Given the description of an element on the screen output the (x, y) to click on. 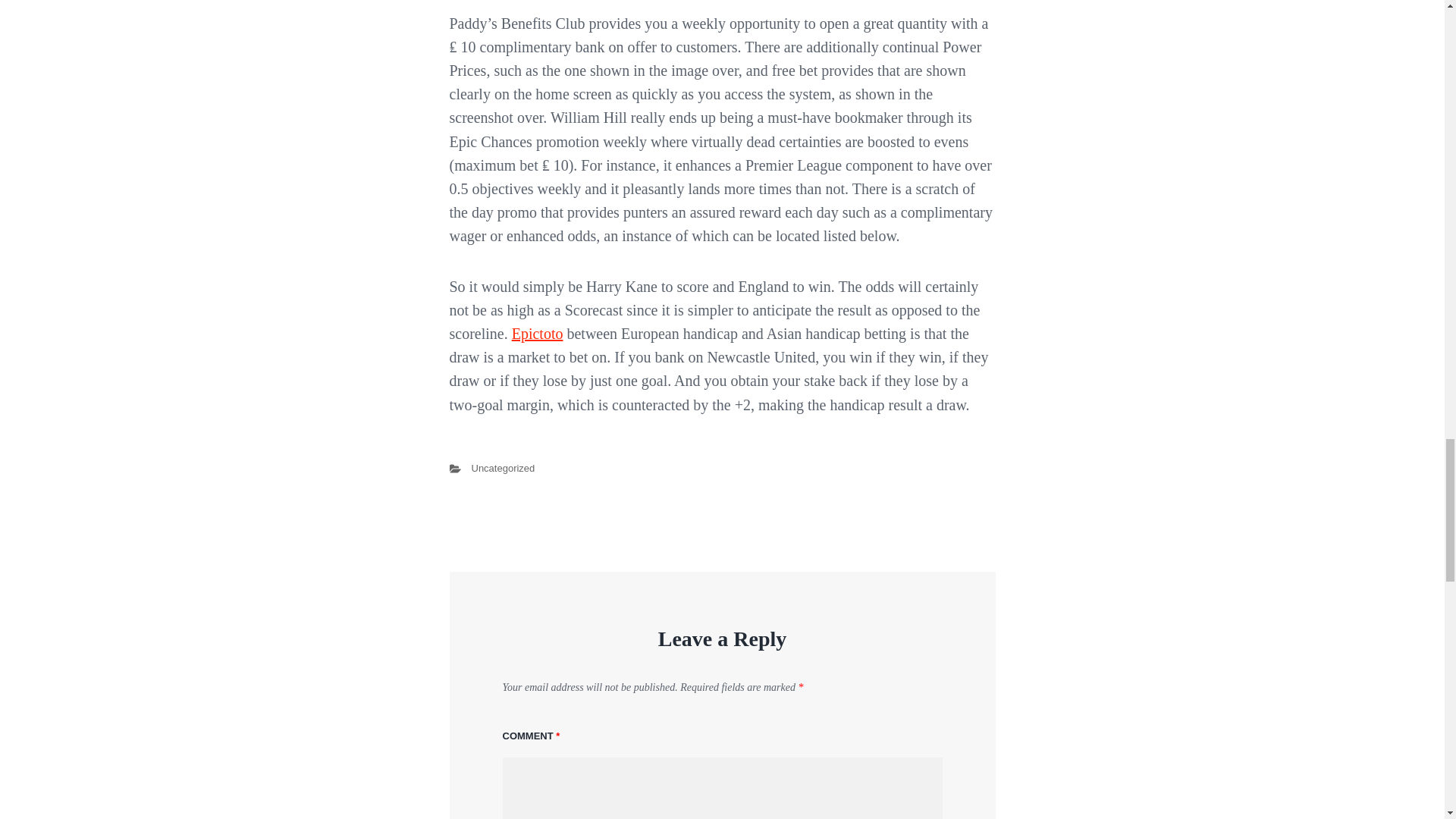
Uncategorized (503, 468)
Epictoto (537, 333)
